Given the description of an element on the screen output the (x, y) to click on. 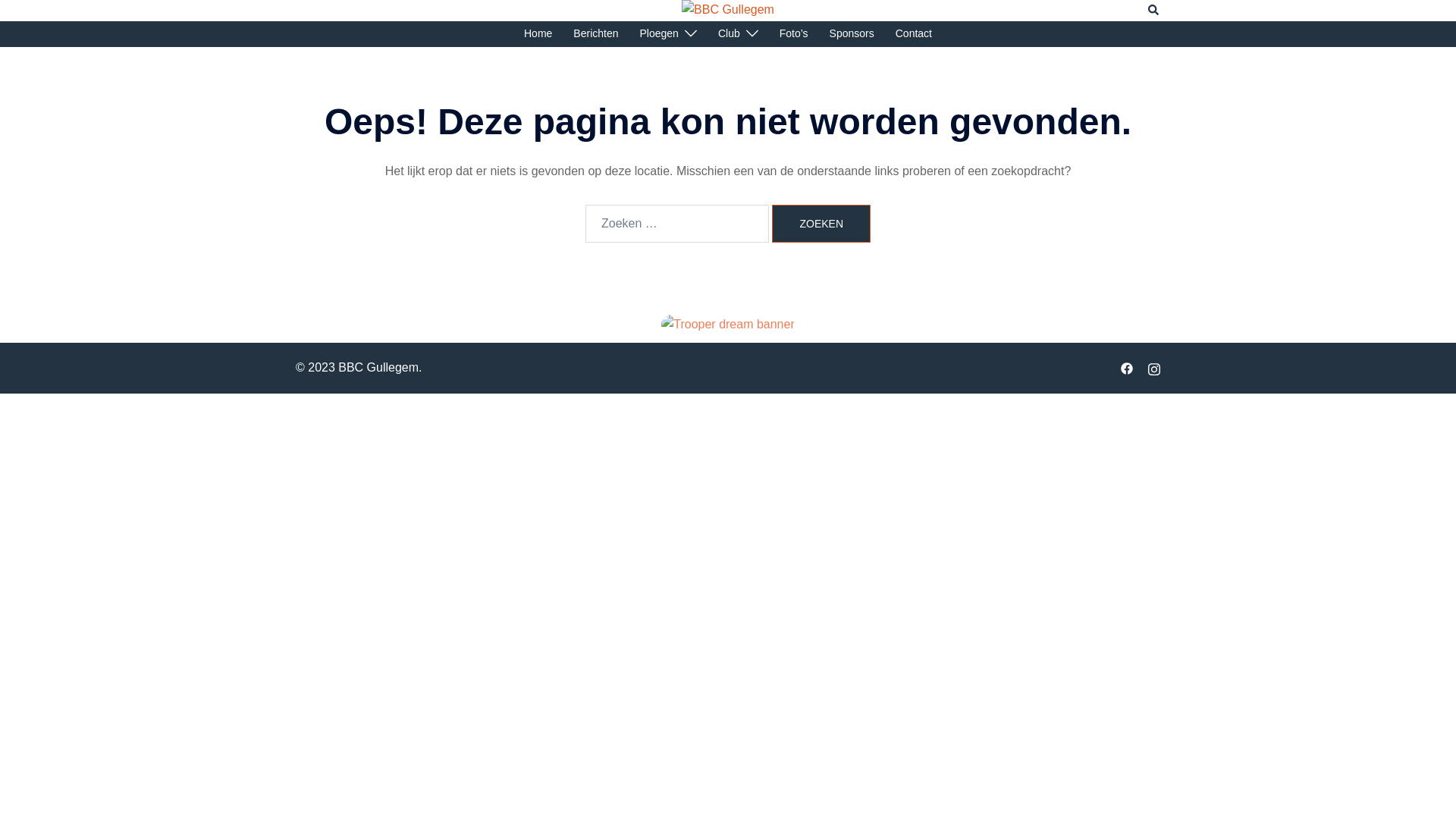
Home Element type: text (538, 34)
Zoeken Element type: text (820, 223)
Contact Element type: text (913, 34)
https://www.facebook.com/groups/143908454275 Element type: text (1126, 366)
https://www.instagram.com/bbc.gullegem/ Element type: text (1154, 366)
Berichten Element type: text (595, 34)
Zoeken Element type: text (1154, 9)
BBC Gullegem Element type: hover (727, 9)
Ploegen Element type: text (659, 34)
Club Element type: text (729, 34)
Sponsors Element type: text (851, 34)
